Given the description of an element on the screen output the (x, y) to click on. 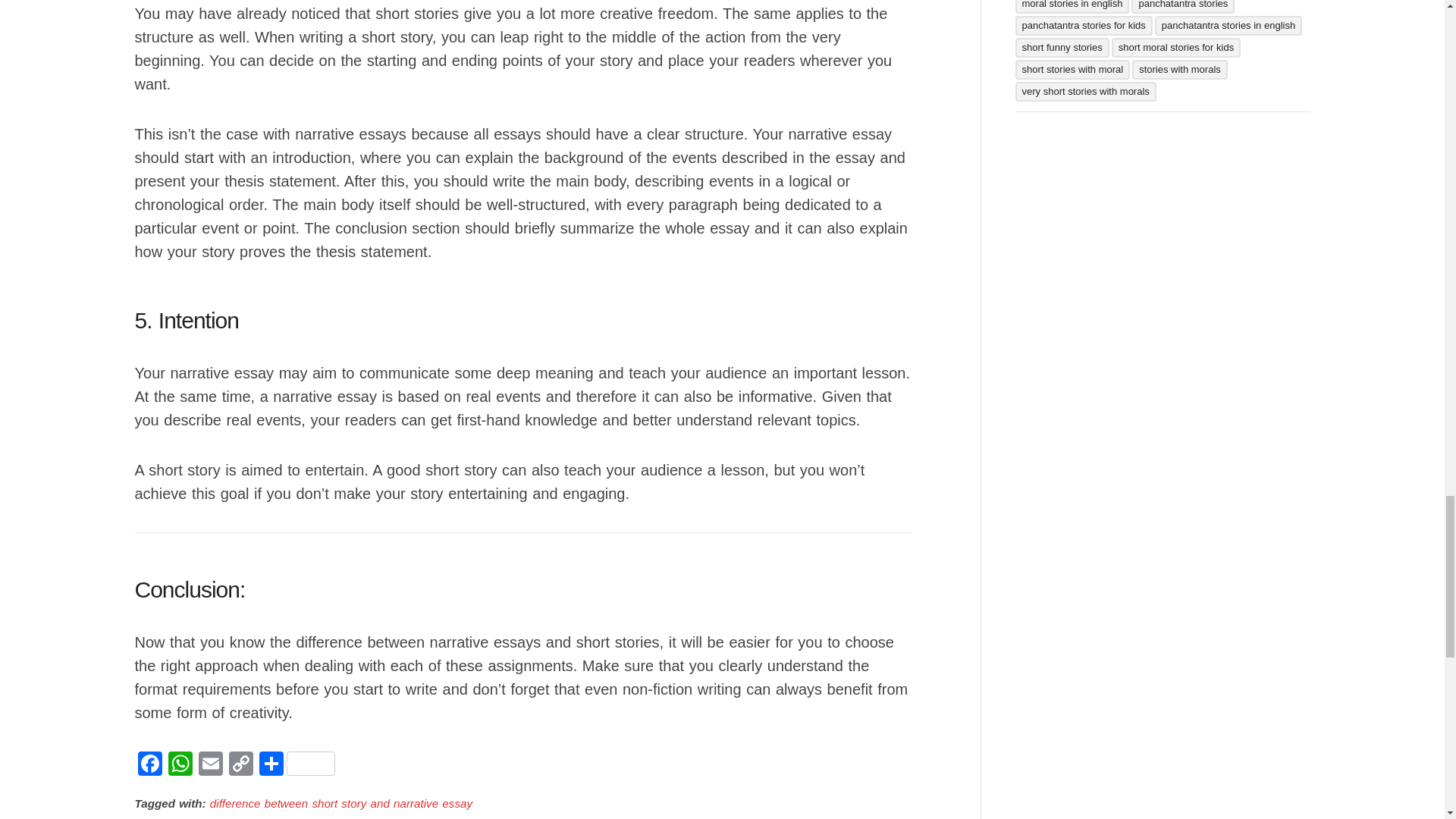
Copy Link (240, 765)
Email (210, 765)
Facebook (150, 765)
WhatsApp (180, 765)
